Given the description of an element on the screen output the (x, y) to click on. 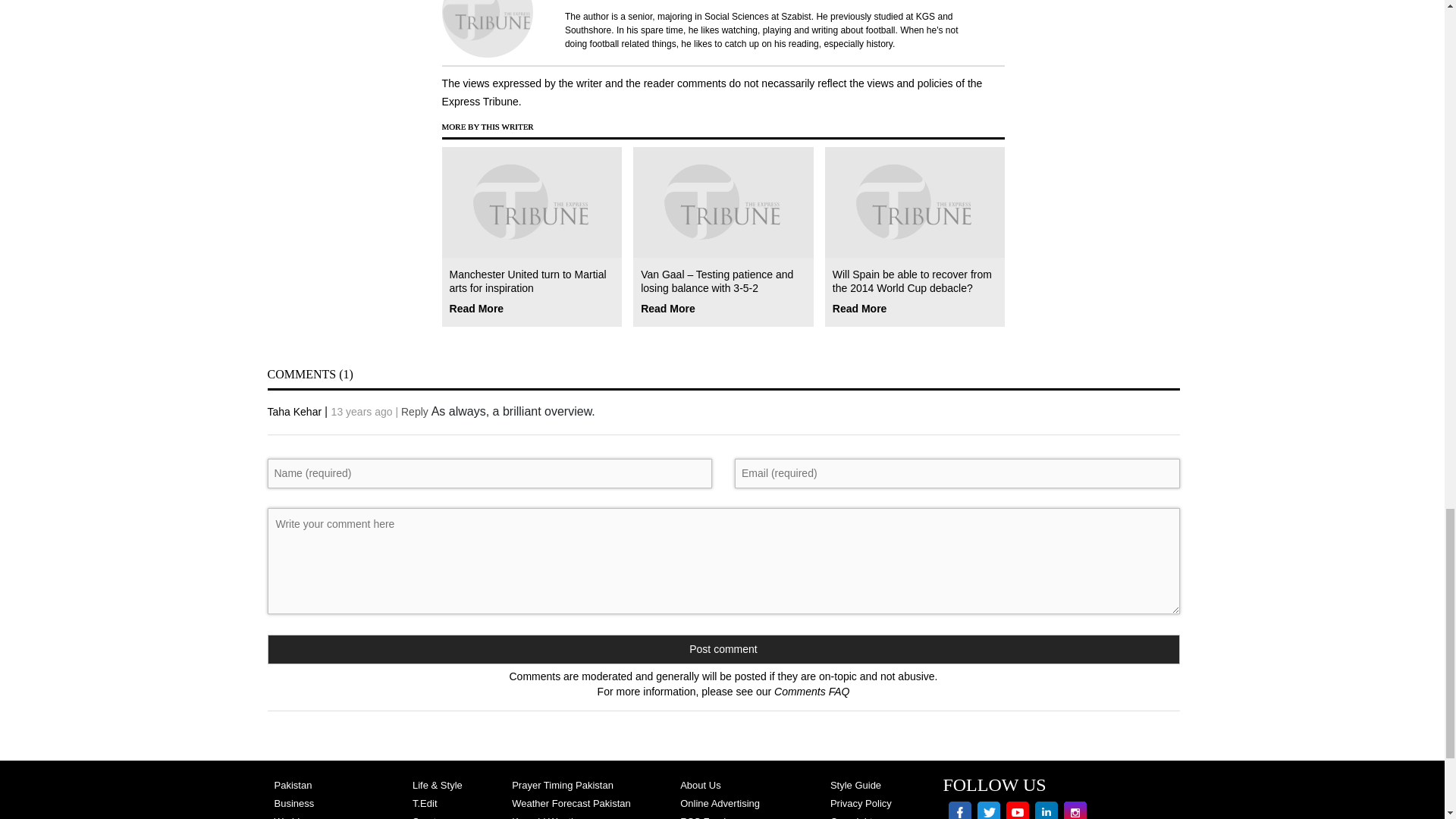
Read More (476, 306)
Post comment (722, 648)
Rumman Islam (772, 24)
